Given the description of an element on the screen output the (x, y) to click on. 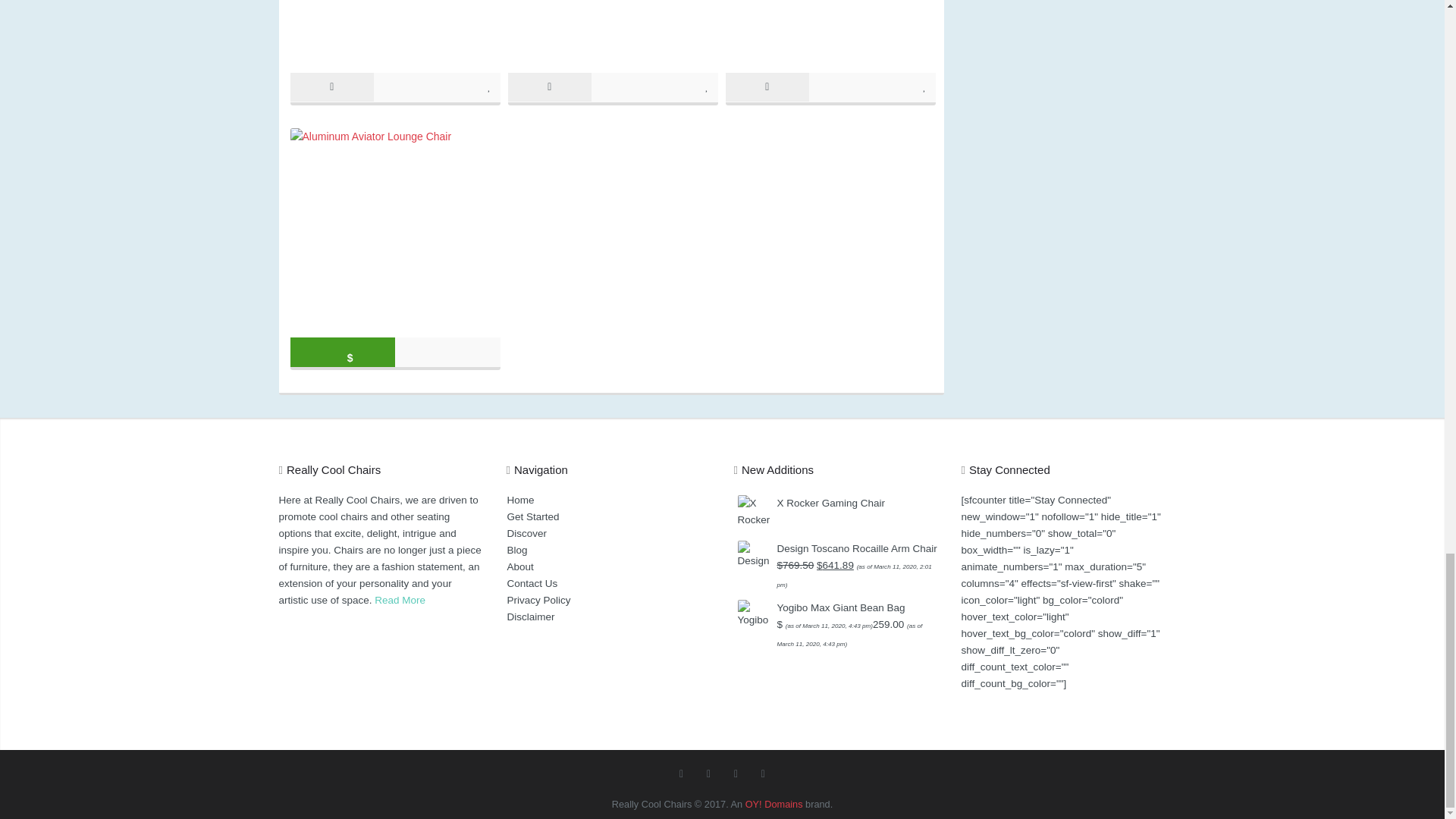
2 (925, 86)
About Really Cool Chairs (399, 600)
0 (489, 86)
1 (707, 86)
